Given the description of an element on the screen output the (x, y) to click on. 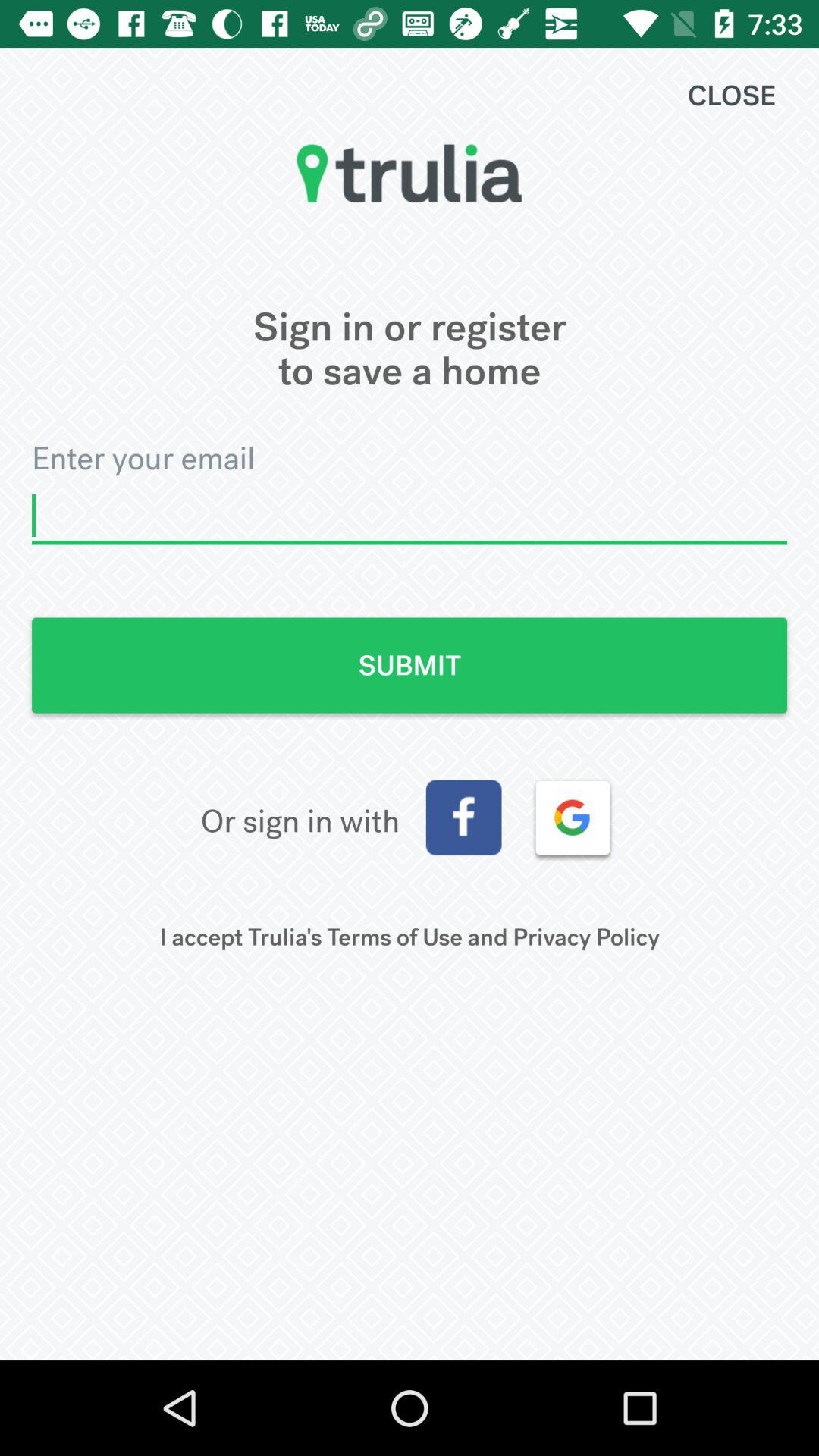
facebook button (463, 817)
